Given the description of an element on the screen output the (x, y) to click on. 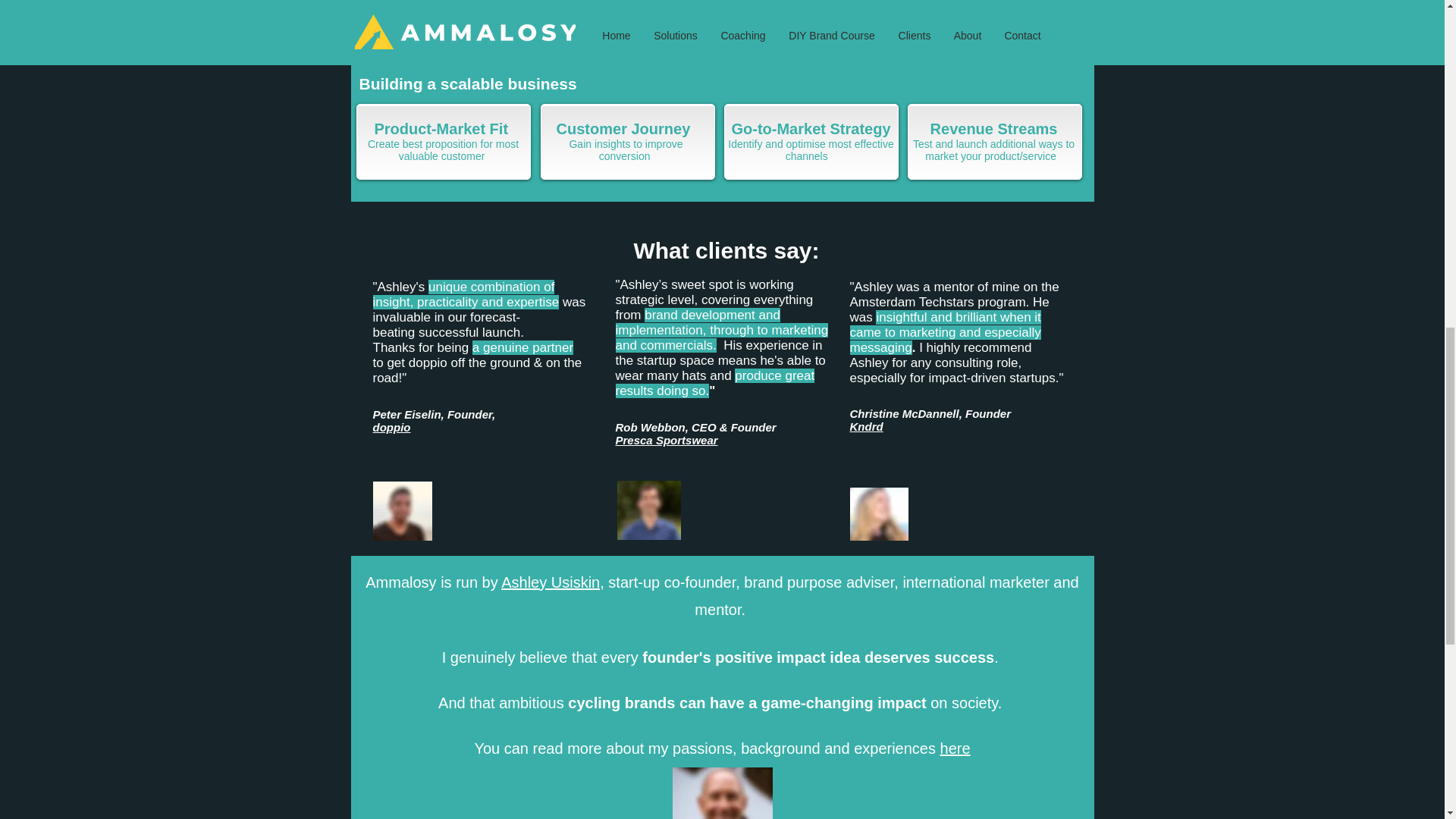
Kndrd (865, 426)
Ashley Usiskin, (552, 581)
Presca Sportswear (666, 440)
doppio (391, 426)
here (955, 748)
